Given the description of an element on the screen output the (x, y) to click on. 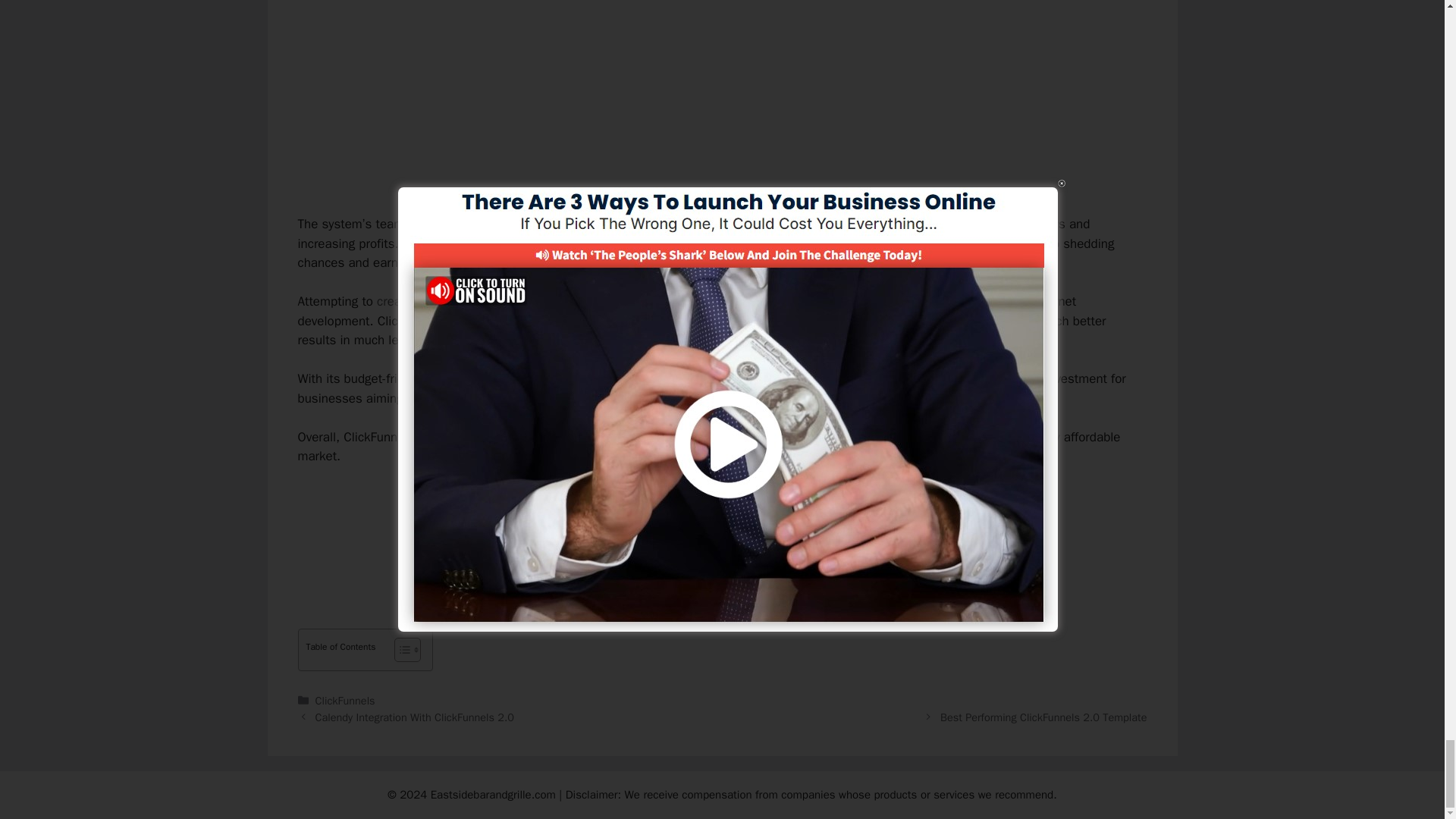
create a sales funnel from scratch (473, 301)
funnels (855, 437)
Grab Your ClickFunnels 2.0 Free Trial Now (721, 508)
online store (590, 223)
